Given the description of an element on the screen output the (x, y) to click on. 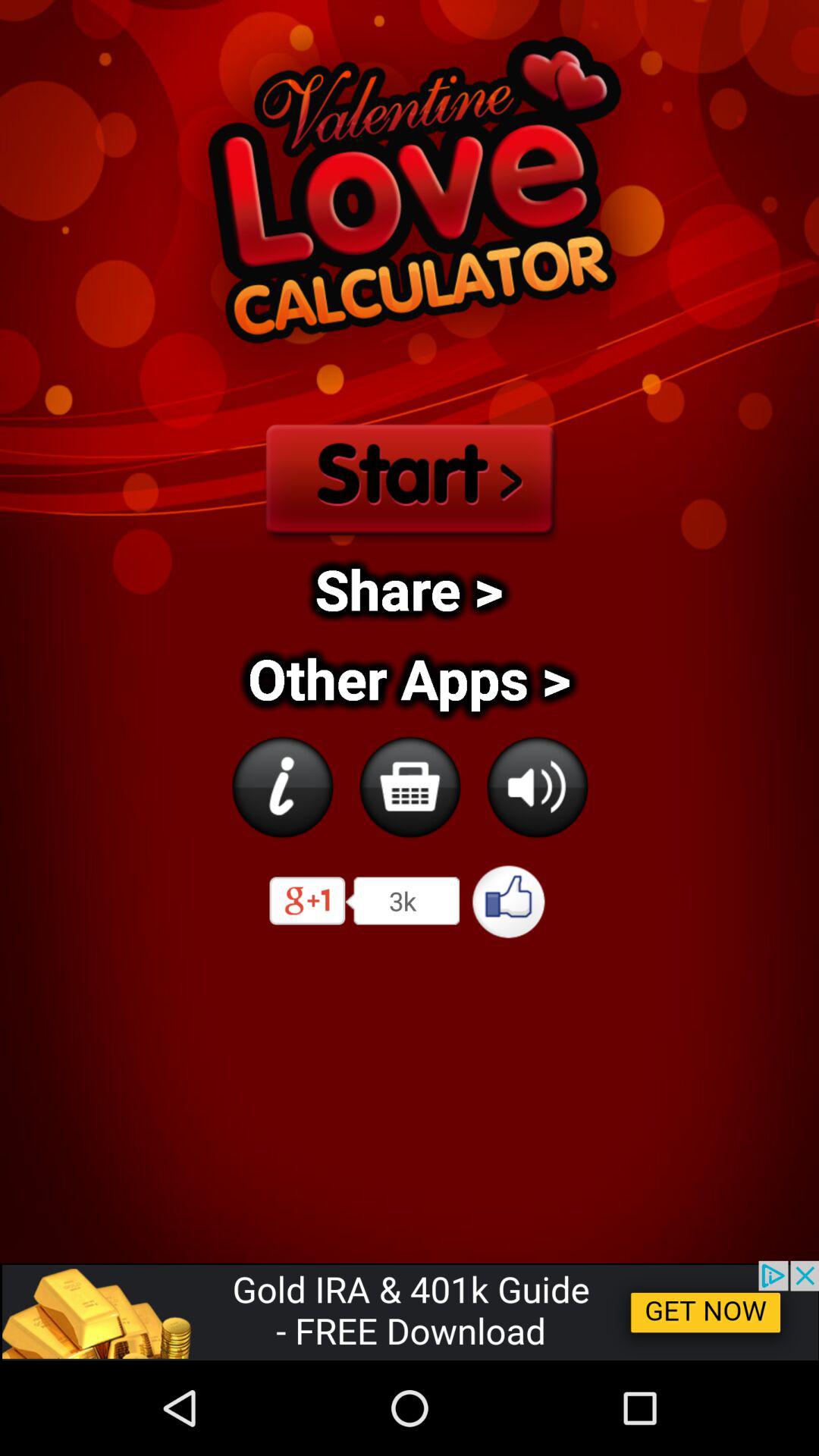
sound bar (536, 786)
